Given the description of an element on the screen output the (x, y) to click on. 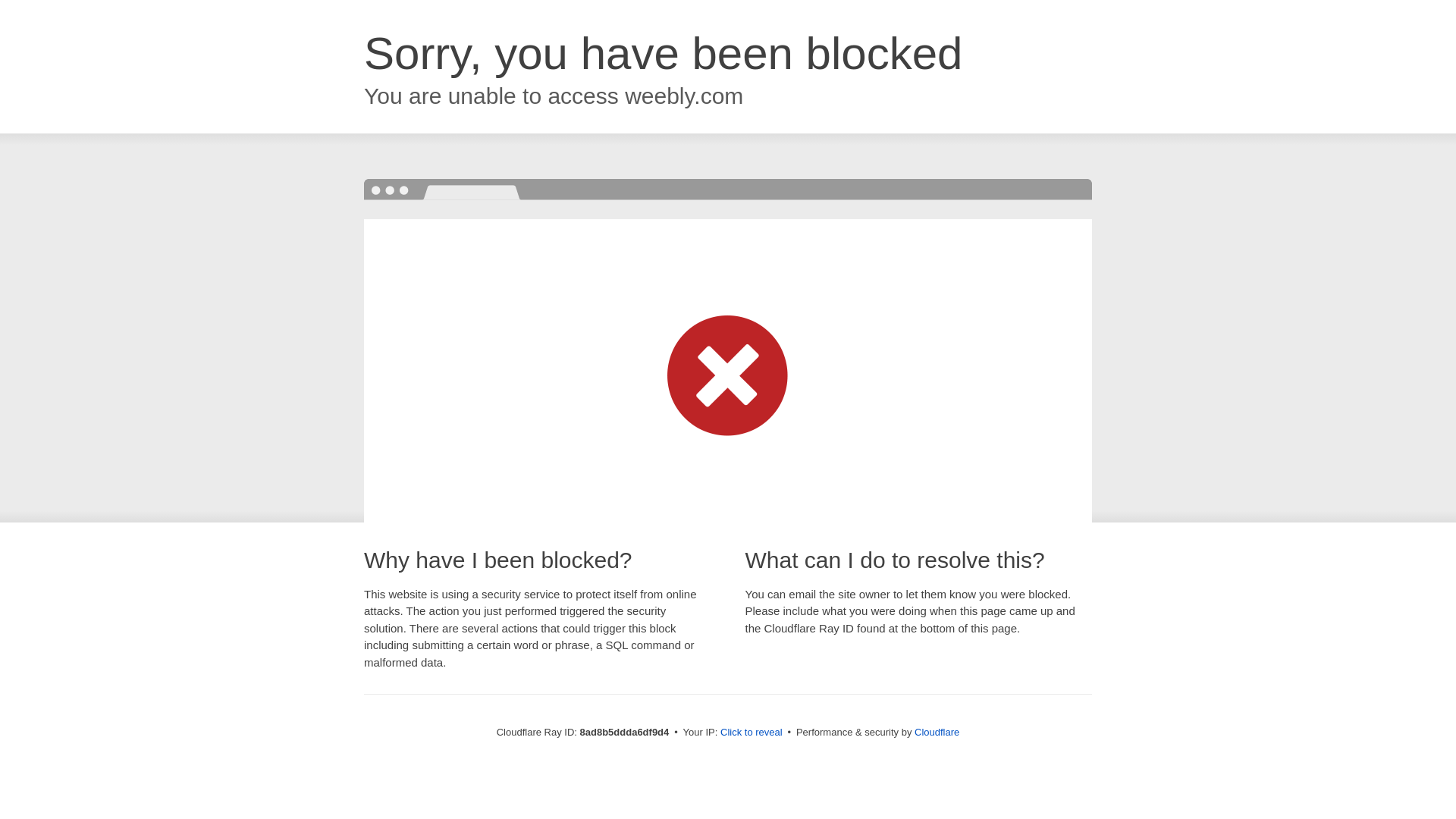
Cloudflare (936, 731)
Click to reveal (751, 732)
